Given the description of an element on the screen output the (x, y) to click on. 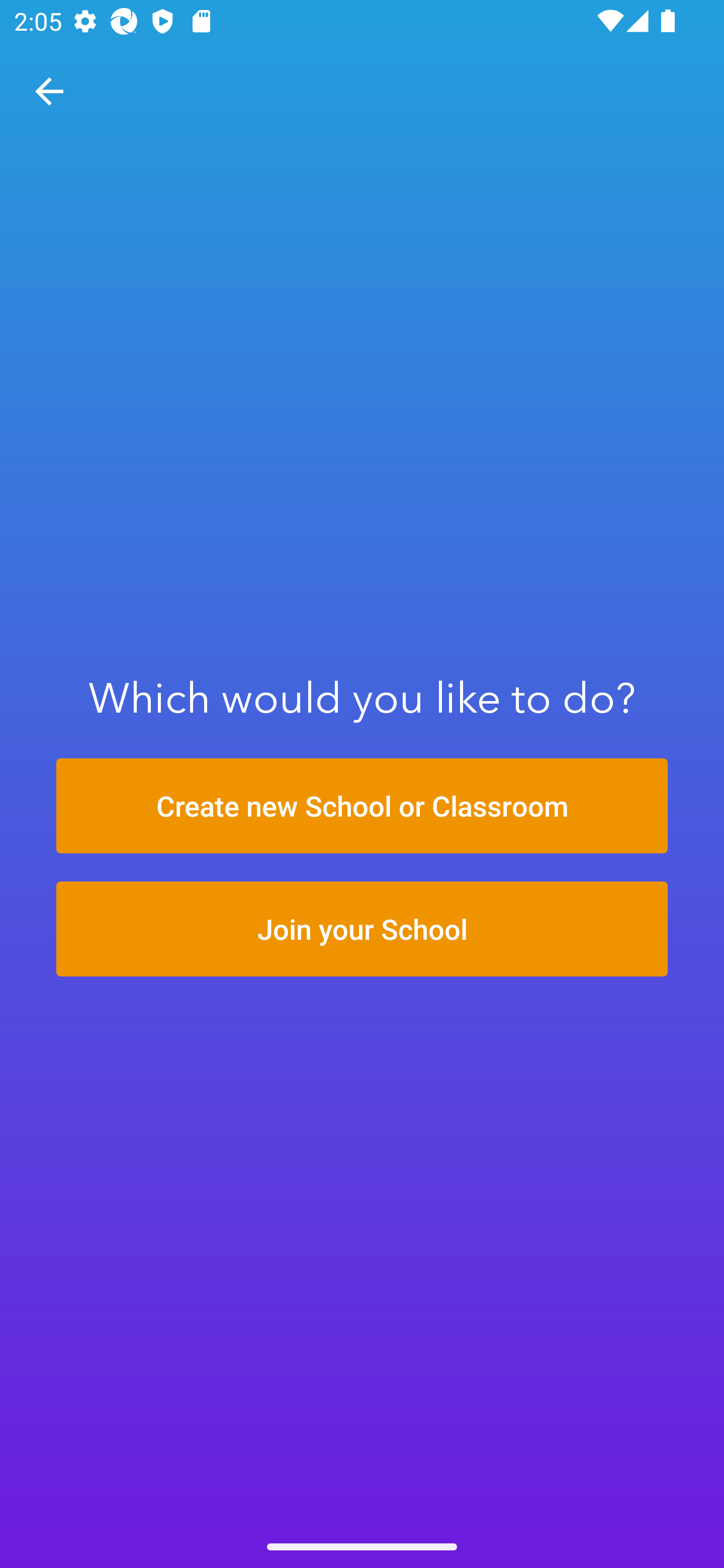
Navigate up (49, 91)
Create new School or Classroom (361, 805)
Join your School (361, 928)
